Given the description of an element on the screen output the (x, y) to click on. 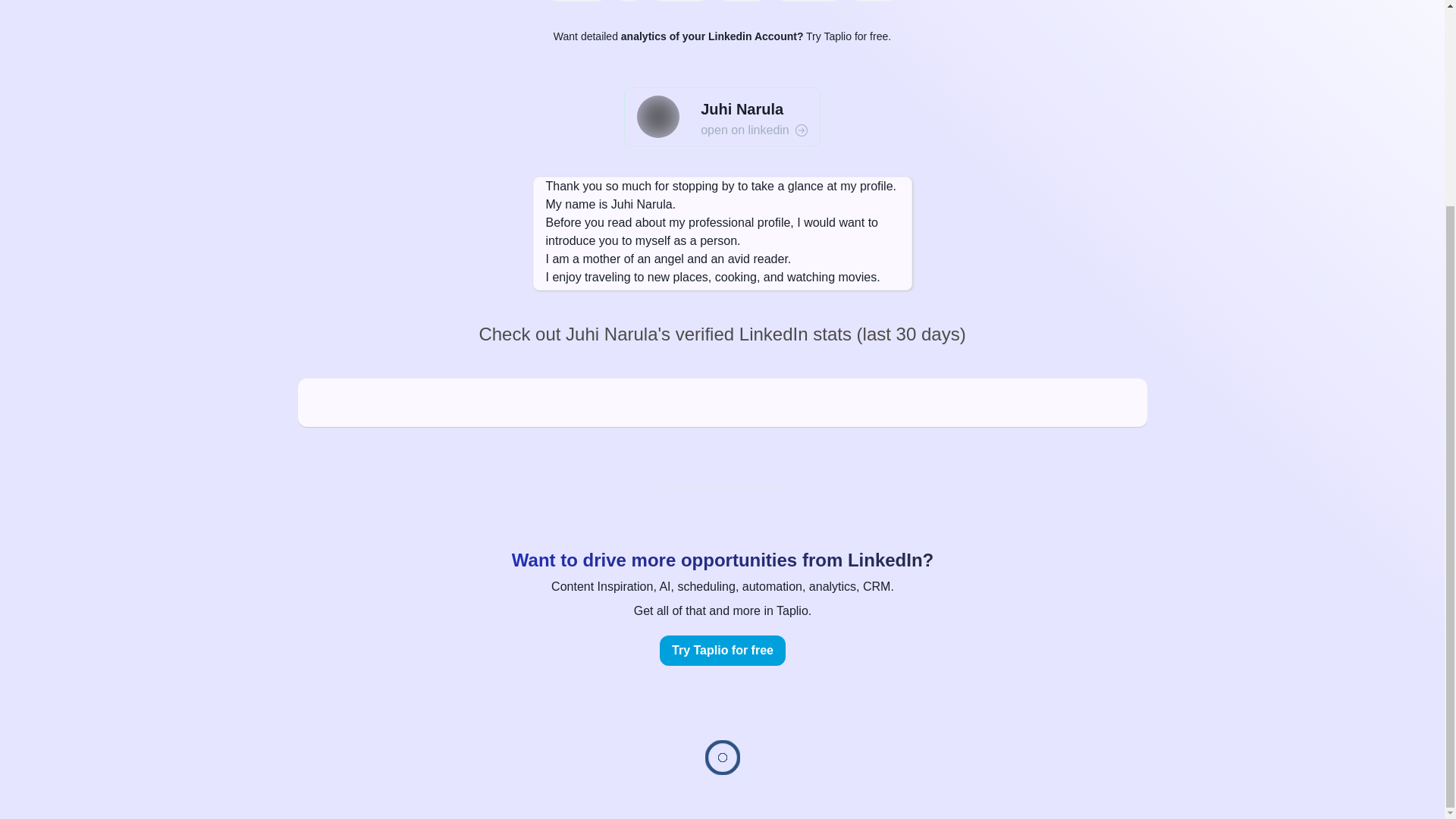
Try Taplio for free (722, 650)
amewborn (679, 0)
justinwelsh (576, 0)
abelcak (873, 0)
lukematthws (808, 0)
thibaultll (742, 0)
open on linkedin (754, 130)
-g- (628, 0)
